Given the description of an element on the screen output the (x, y) to click on. 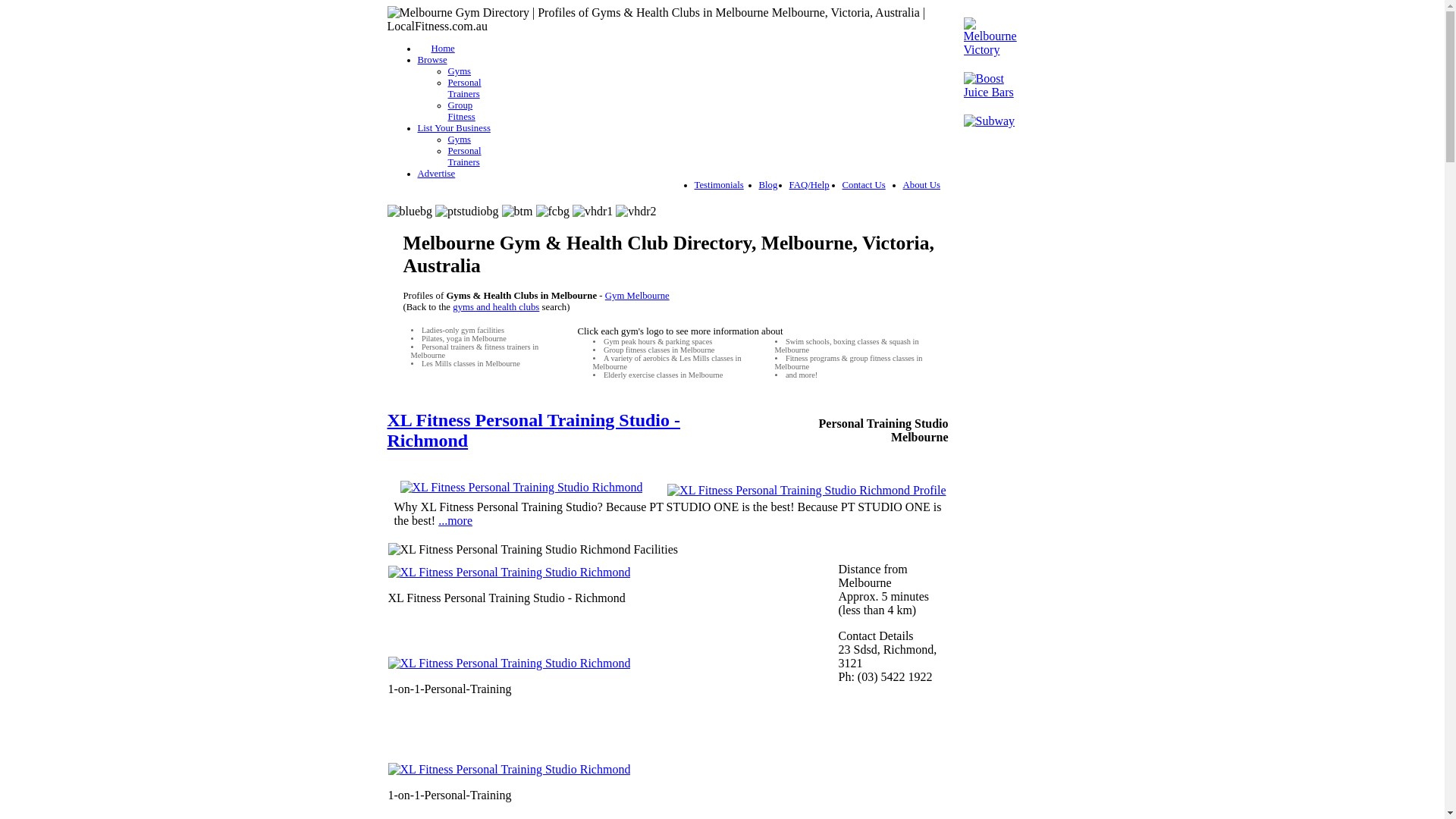
XL Fitness Personal Training Studio Richmond Facilities Element type: hover (533, 549)
Personal Trainers Element type: text (463, 156)
ptstudiobg Element type: hover (466, 211)
Gyms Element type: text (458, 139)
Group Fitness Element type: text (460, 111)
gyms and health clubs Element type: text (495, 306)
Contact Us Element type: text (862, 184)
...more Element type: text (455, 520)
Testimonials Element type: text (718, 184)
XL Fitness Personal Training Studio Richmond Element type: hover (521, 487)
vhdr1 Element type: hover (592, 211)
Blog Element type: text (767, 184)
Advertise Element type: text (436, 173)
Personal Trainers Element type: text (463, 88)
XL Fitness Personal Training Studio - Richmond Element type: text (533, 430)
Browse Element type: text (431, 59)
Gym Melbourne Element type: text (637, 295)
Gyms Element type: text (458, 70)
About Us Element type: text (920, 184)
Home Element type: text (435, 48)
vhdr2 Element type: hover (635, 211)
List Your Business Element type: text (453, 127)
bluebg Element type: hover (409, 211)
FAQ/Help Element type: text (808, 184)
btm Element type: hover (517, 211)
fcbg Element type: hover (551, 211)
